Given the description of an element on the screen output the (x, y) to click on. 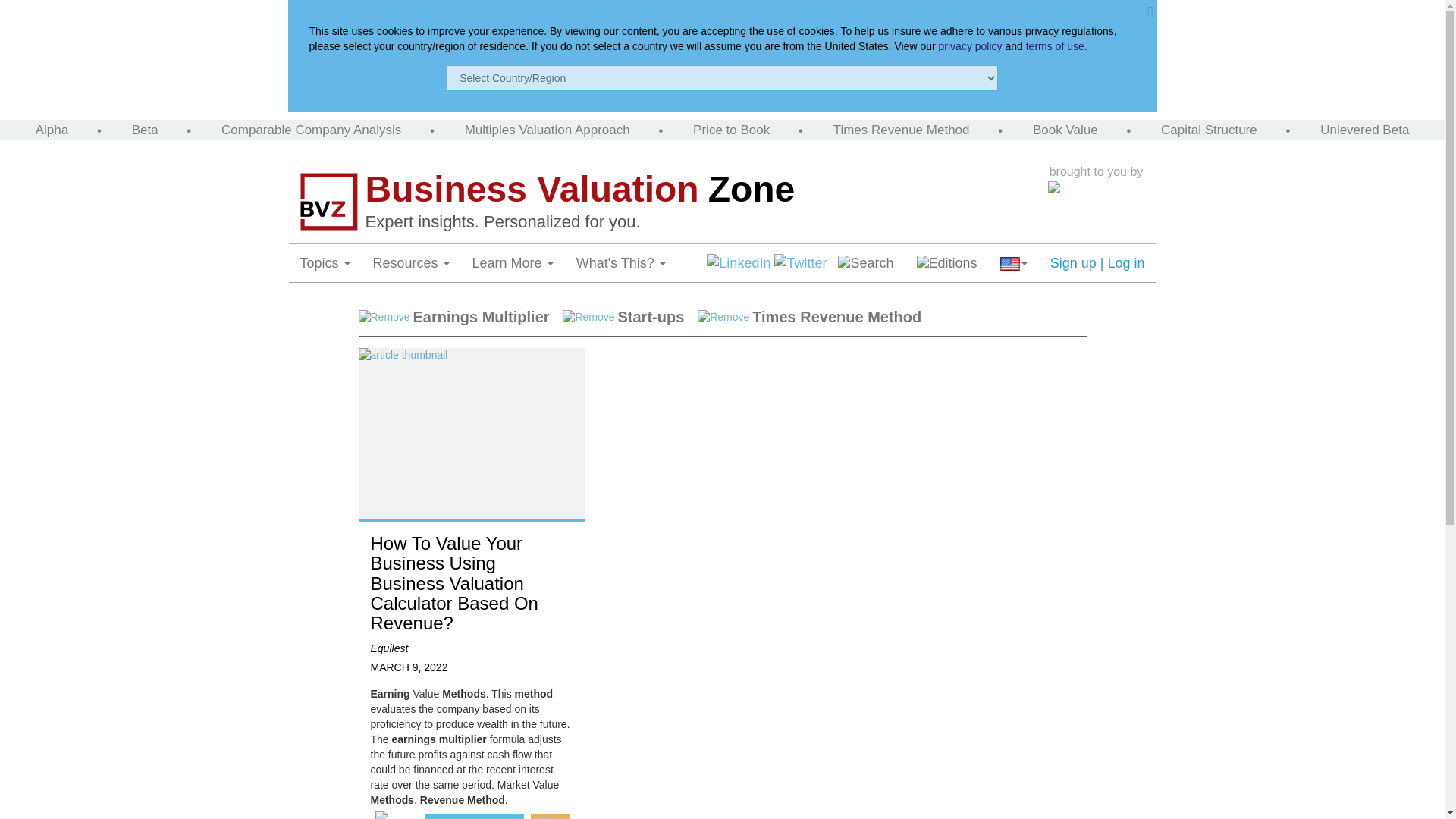
Select your country (1013, 262)
Capital Structure (1208, 129)
terms of use. (1056, 46)
Search (865, 262)
Select edition (946, 262)
Alpha (51, 129)
Comparable Company Analysis (311, 129)
Capital Structure (1208, 129)
Alpha (51, 129)
Multiples Valuation Approach (547, 129)
